Given the description of an element on the screen output the (x, y) to click on. 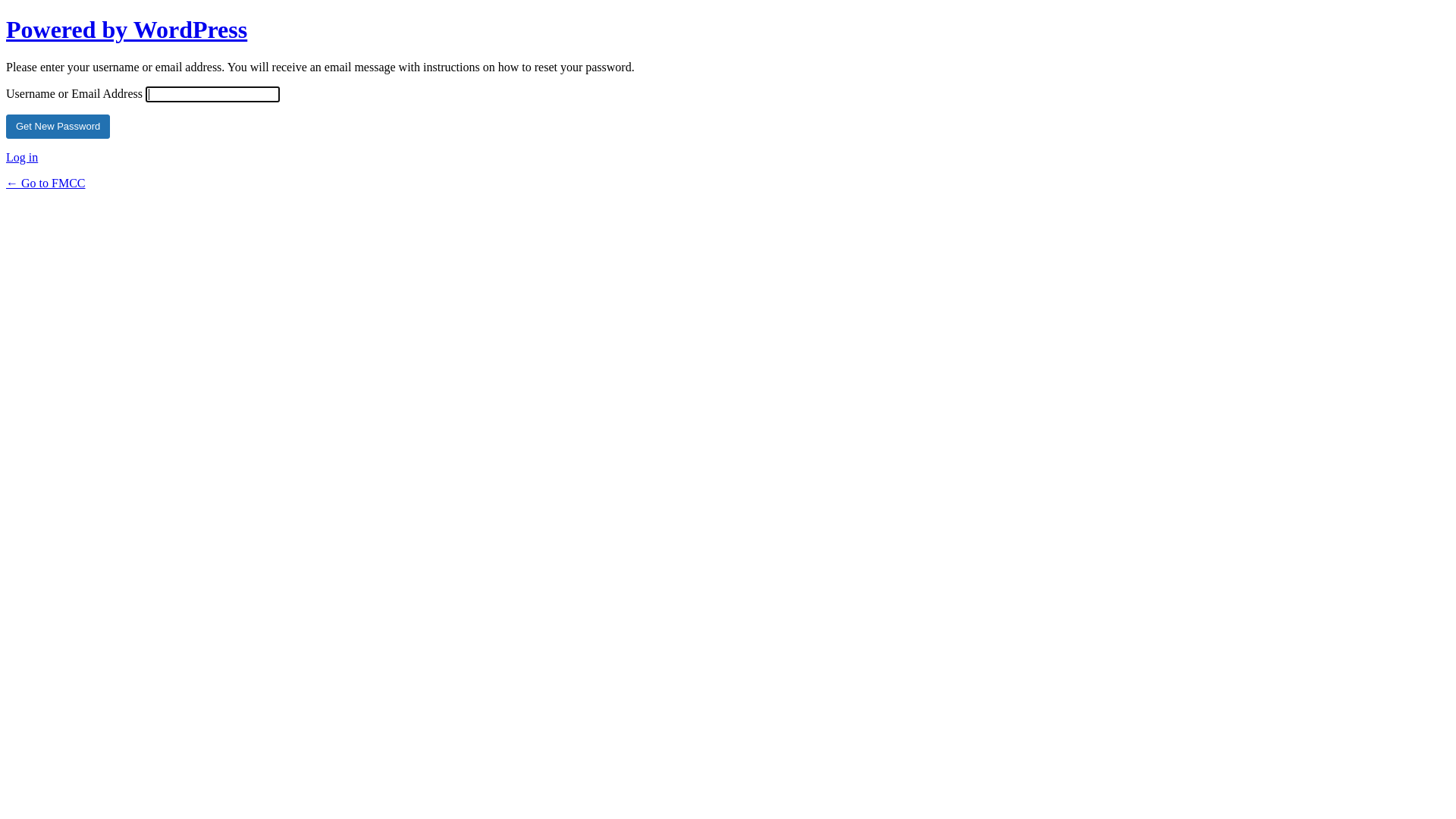
Get New Password Element type: text (57, 126)
Powered by WordPress Element type: text (126, 29)
Log in Element type: text (21, 156)
